Given the description of an element on the screen output the (x, y) to click on. 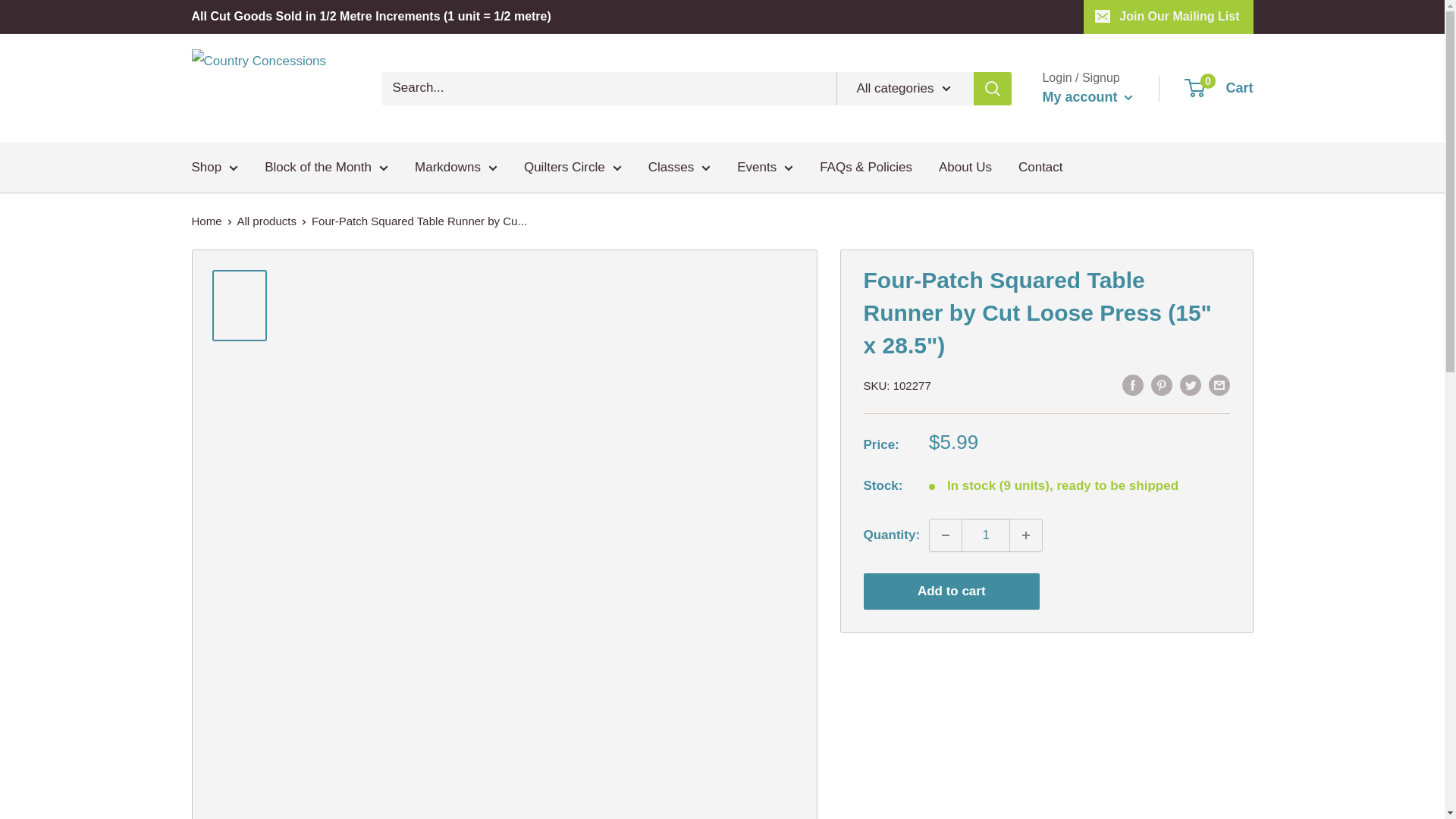
Join Our Mailing List (1167, 16)
Decrease quantity by 1 (945, 535)
1 (985, 535)
Increase quantity by 1 (1026, 535)
